Given the description of an element on the screen output the (x, y) to click on. 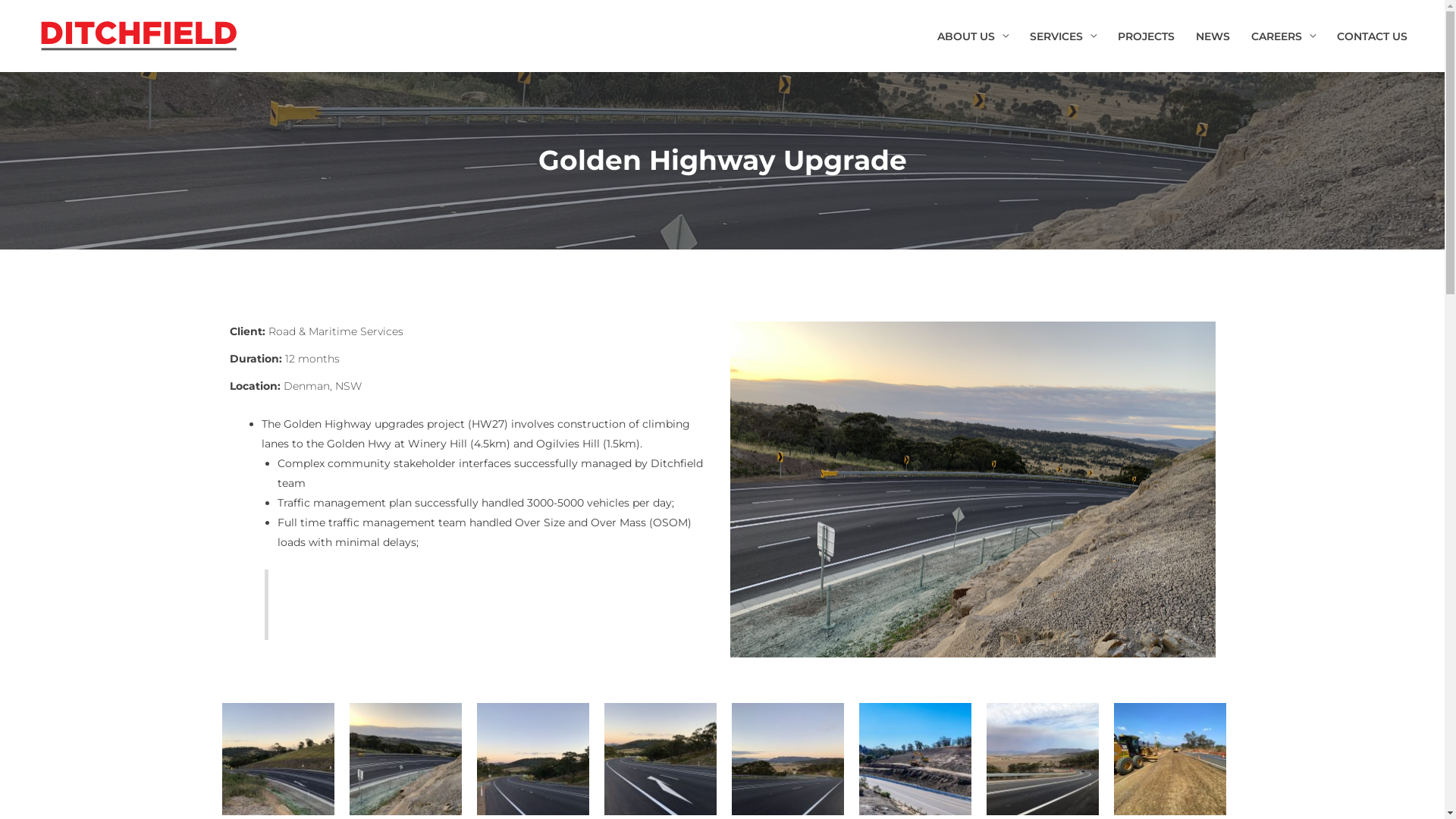
SERVICES Element type: text (1063, 36)
CONTACT US Element type: text (1372, 36)
PROJECTS Element type: text (1146, 36)
NEWS Element type: text (1212, 36)
ABOUT US Element type: text (972, 36)
CAREERS Element type: text (1283, 36)
